Given the description of an element on the screen output the (x, y) to click on. 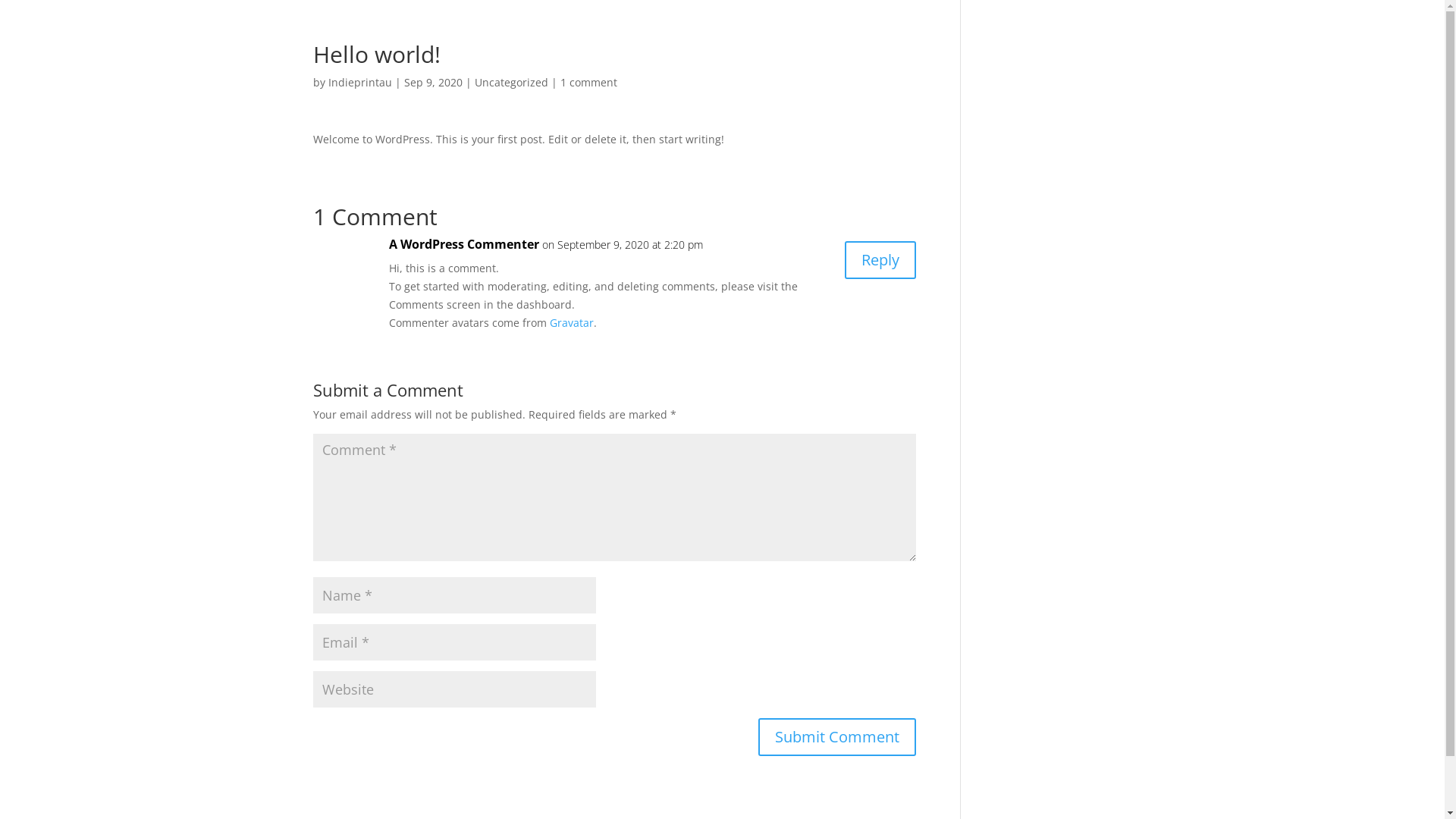
Reply Element type: text (880, 260)
Uncategorized Element type: text (511, 82)
Indieprintau Element type: text (359, 82)
Gravatar Element type: text (571, 322)
Submit Comment Element type: text (837, 737)
1 comment Element type: text (587, 82)
A WordPress Commenter Element type: text (463, 244)
